Given the description of an element on the screen output the (x, y) to click on. 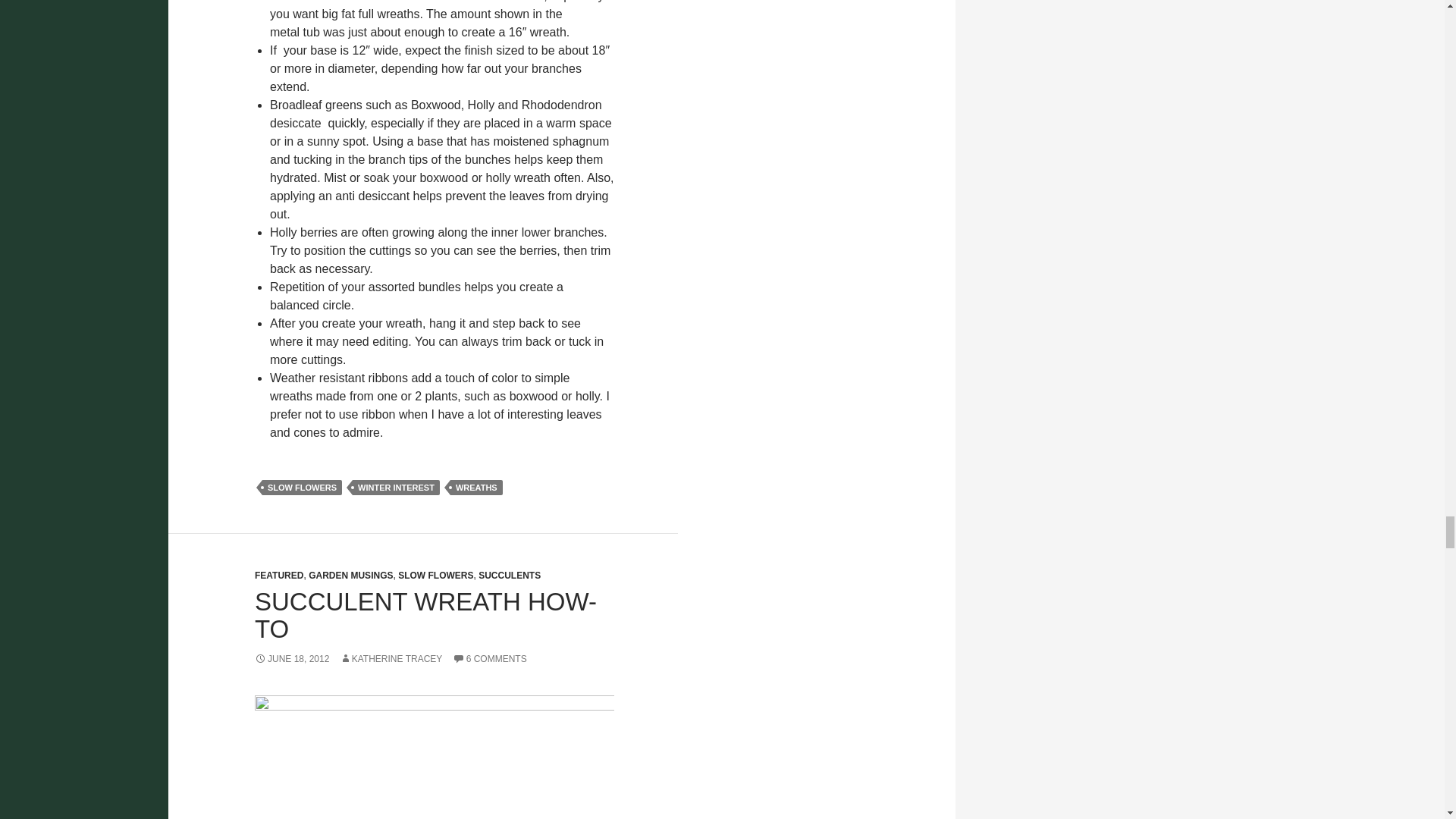
Succulent Wreath (434, 757)
